Given the description of an element on the screen output the (x, y) to click on. 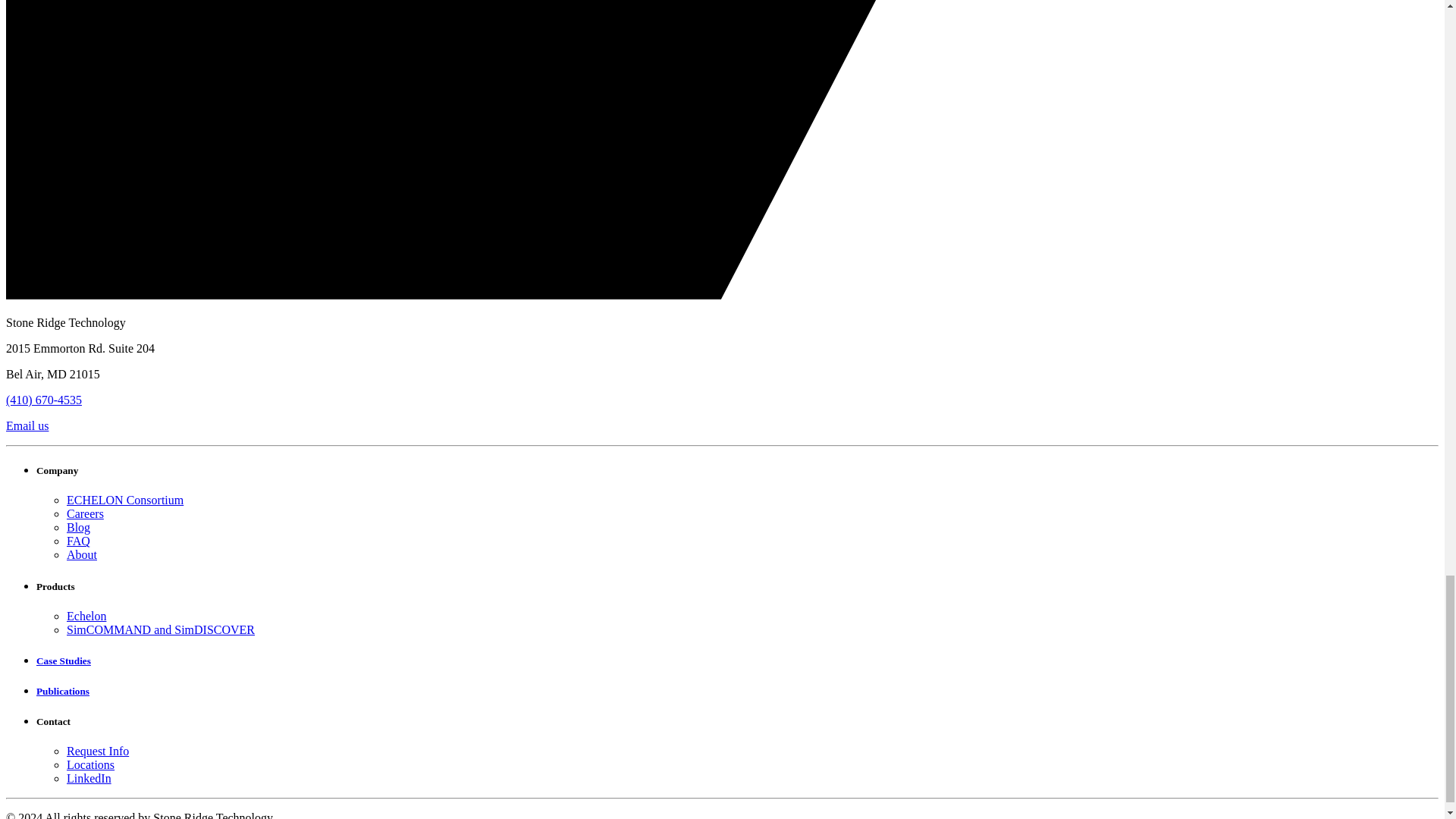
ECHELON Consortium (124, 499)
Email us (26, 425)
About (81, 554)
FAQ (78, 540)
Locations (90, 764)
Echelon (86, 615)
Careers (84, 513)
Request Info (97, 750)
SimCOMMAND and SimDISCOVER (160, 629)
Blog (78, 526)
LinkedIn (89, 778)
